Given the description of an element on the screen output the (x, y) to click on. 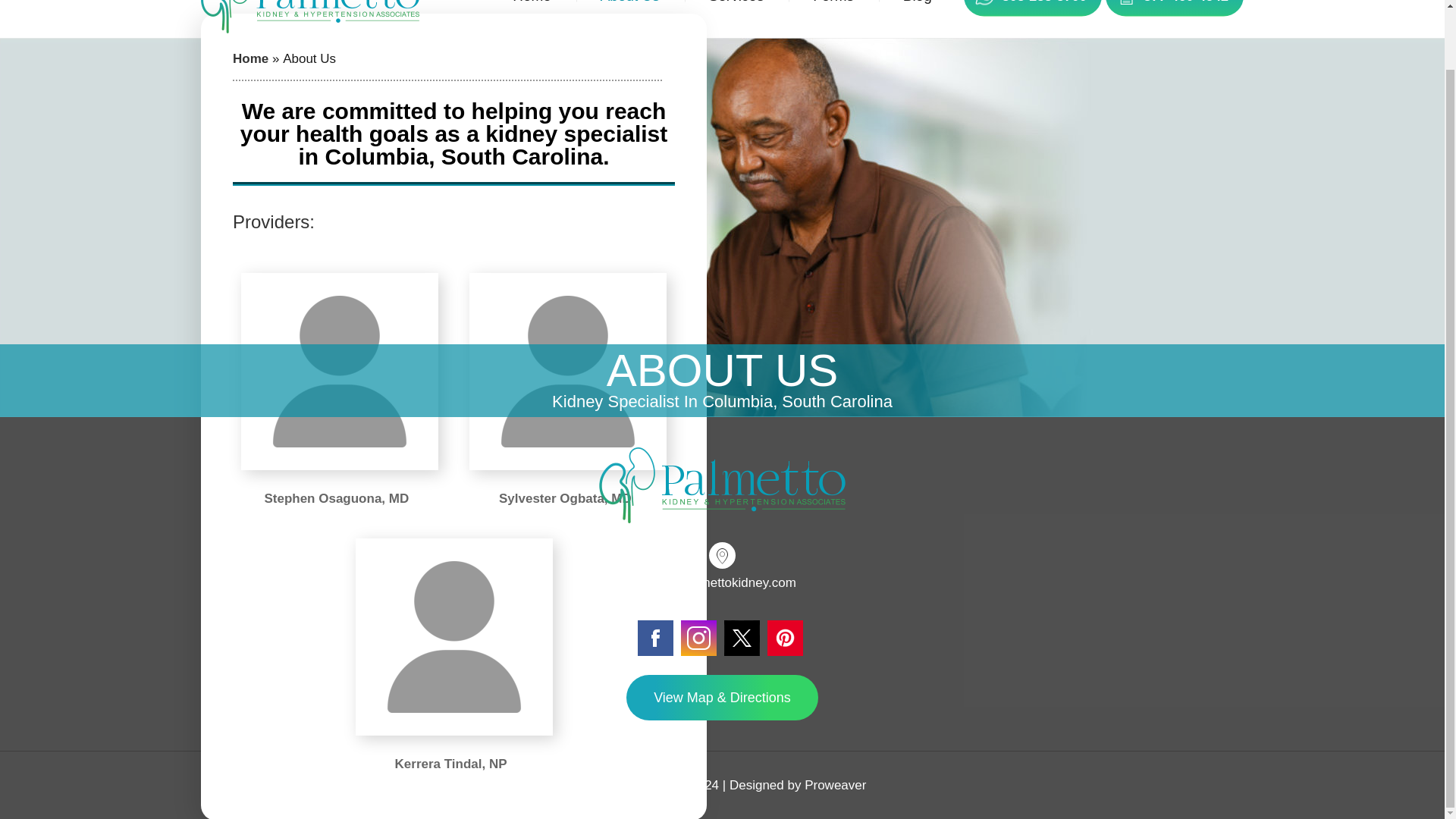
877-460-4542 (1185, 2)
803-233-3700 (1043, 2)
Proweaver (835, 785)
Home (531, 18)
About Us (630, 18)
Home (249, 58)
Blog (917, 18)
Services (736, 18)
Forms (833, 18)
